Given the description of an element on the screen output the (x, y) to click on. 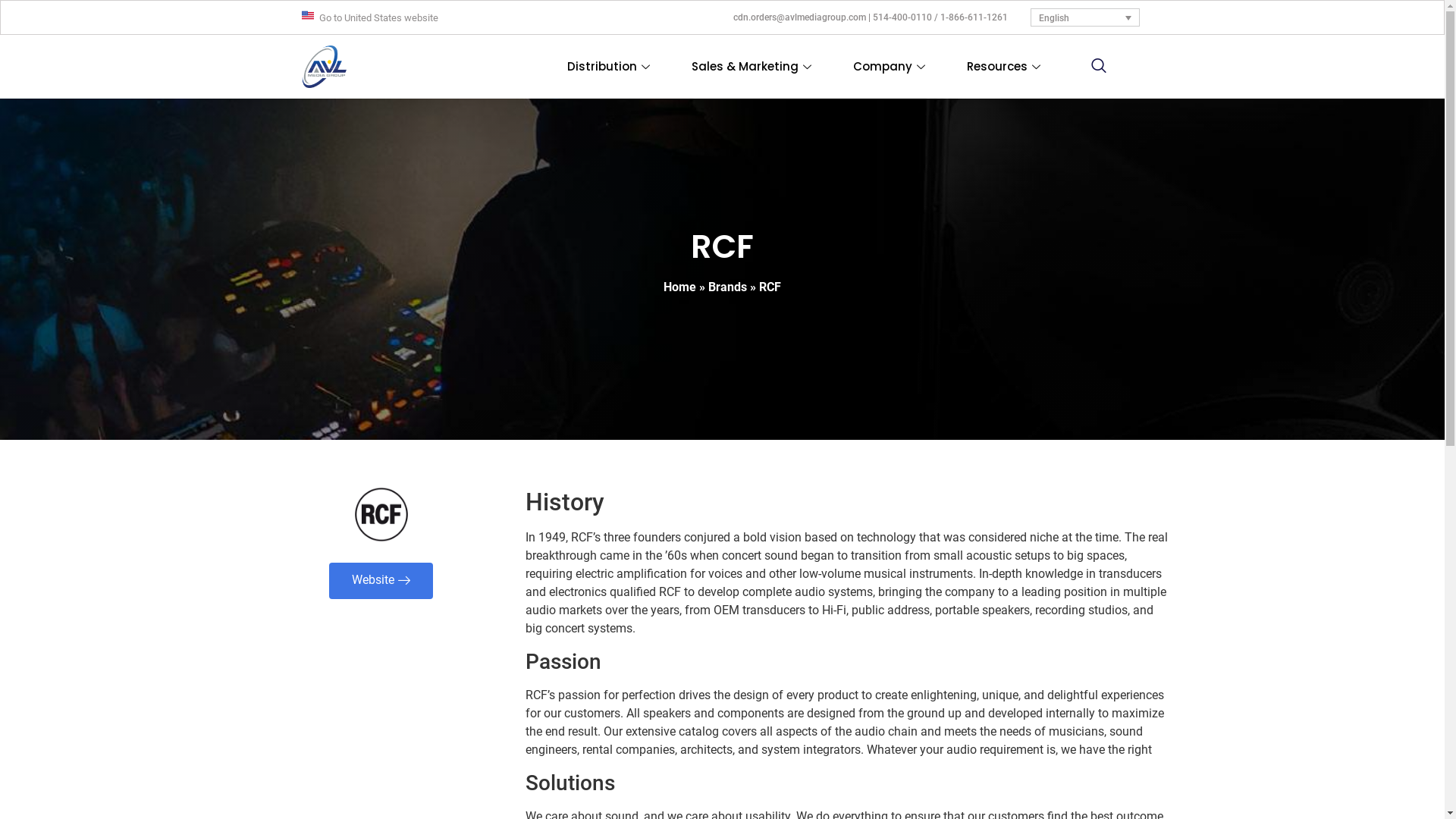
Distribution Element type: text (610, 66)
Go to United States website Element type: text (378, 17)
Company Element type: text (890, 66)
Resources Element type: text (1005, 66)
Home Element type: text (679, 286)
Sales & Marketing Element type: text (753, 66)
English Element type: text (1084, 17)
Brands Element type: text (727, 286)
Website Element type: text (381, 580)
